Given the description of an element on the screen output the (x, y) to click on. 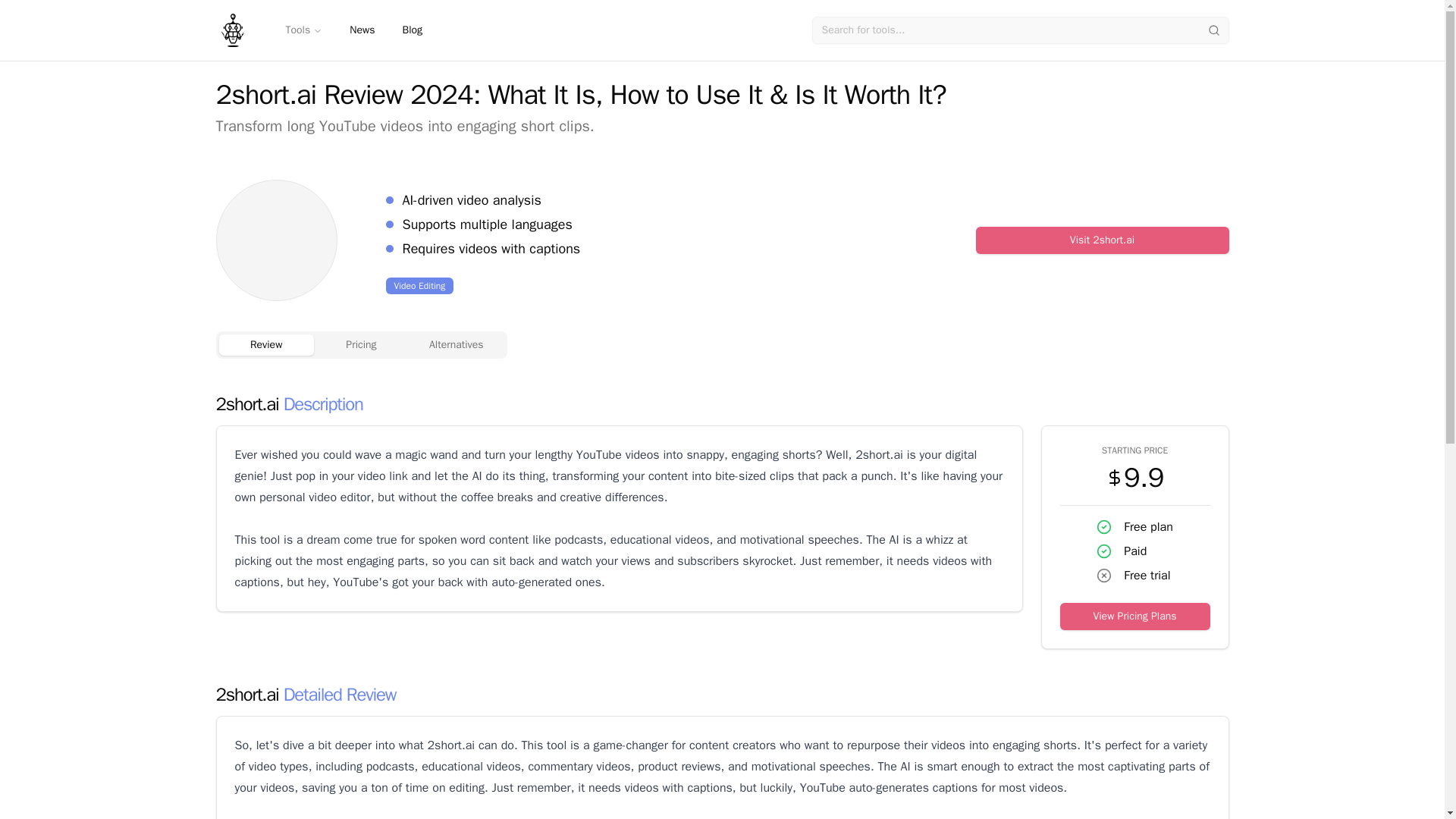
Tools (303, 30)
Visit 2short.ai (1101, 239)
Blog (411, 30)
View Pricing Plans (1134, 615)
Pricing (361, 344)
News (362, 30)
Video Editing (418, 285)
Alternatives (456, 344)
Review (265, 344)
